Given the description of an element on the screen output the (x, y) to click on. 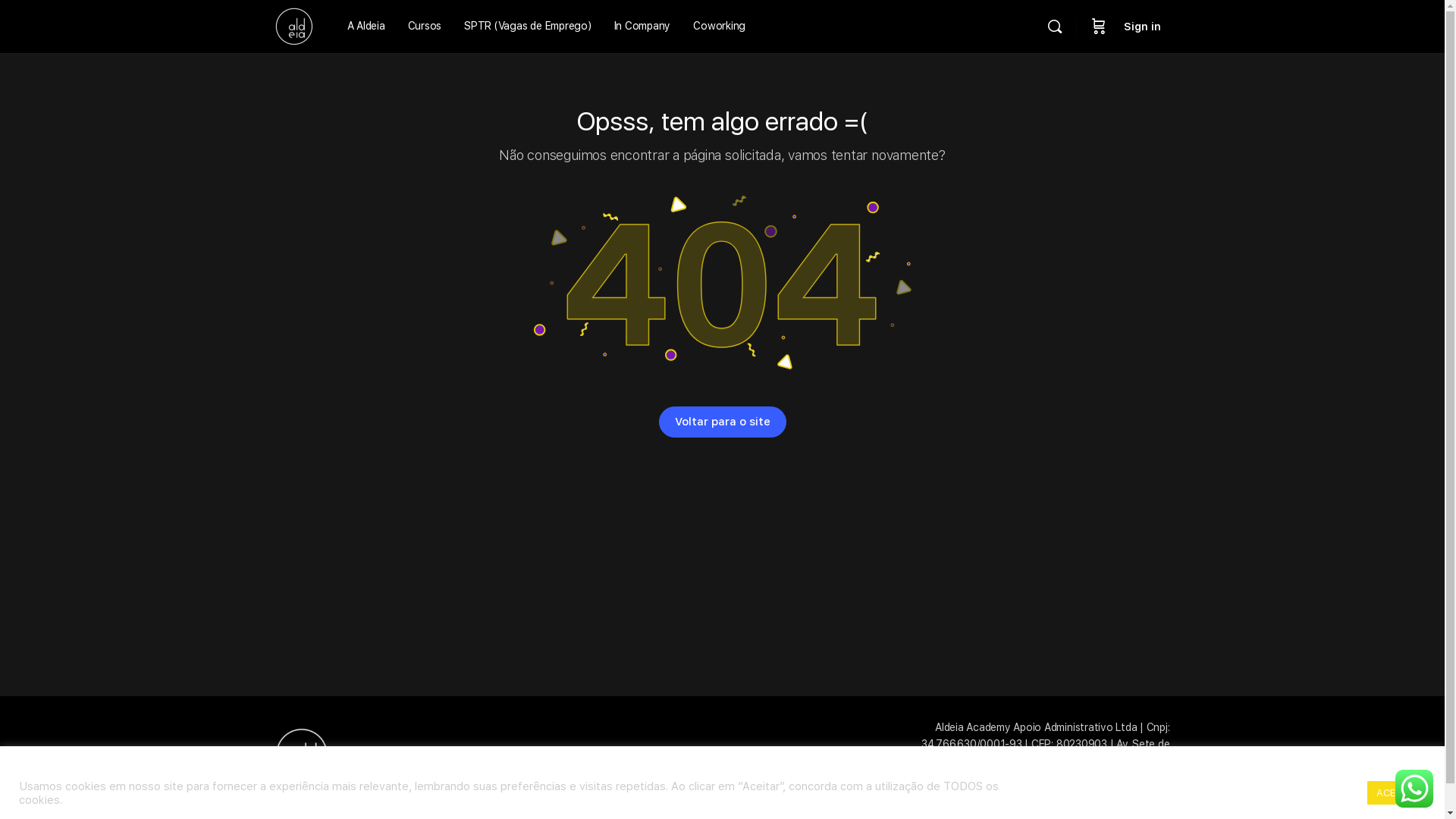
ACEITAR Element type: text (1396, 792)
Cursos Element type: text (424, 26)
Coworking Element type: text (719, 26)
In Company Element type: text (642, 26)
Voltar para o site Element type: text (721, 422)
A Aldeia Element type: text (365, 26)
SPTR (Vagas de Emprego) Element type: text (527, 26)
Sign in Element type: text (1142, 26)
